Given the description of an element on the screen output the (x, y) to click on. 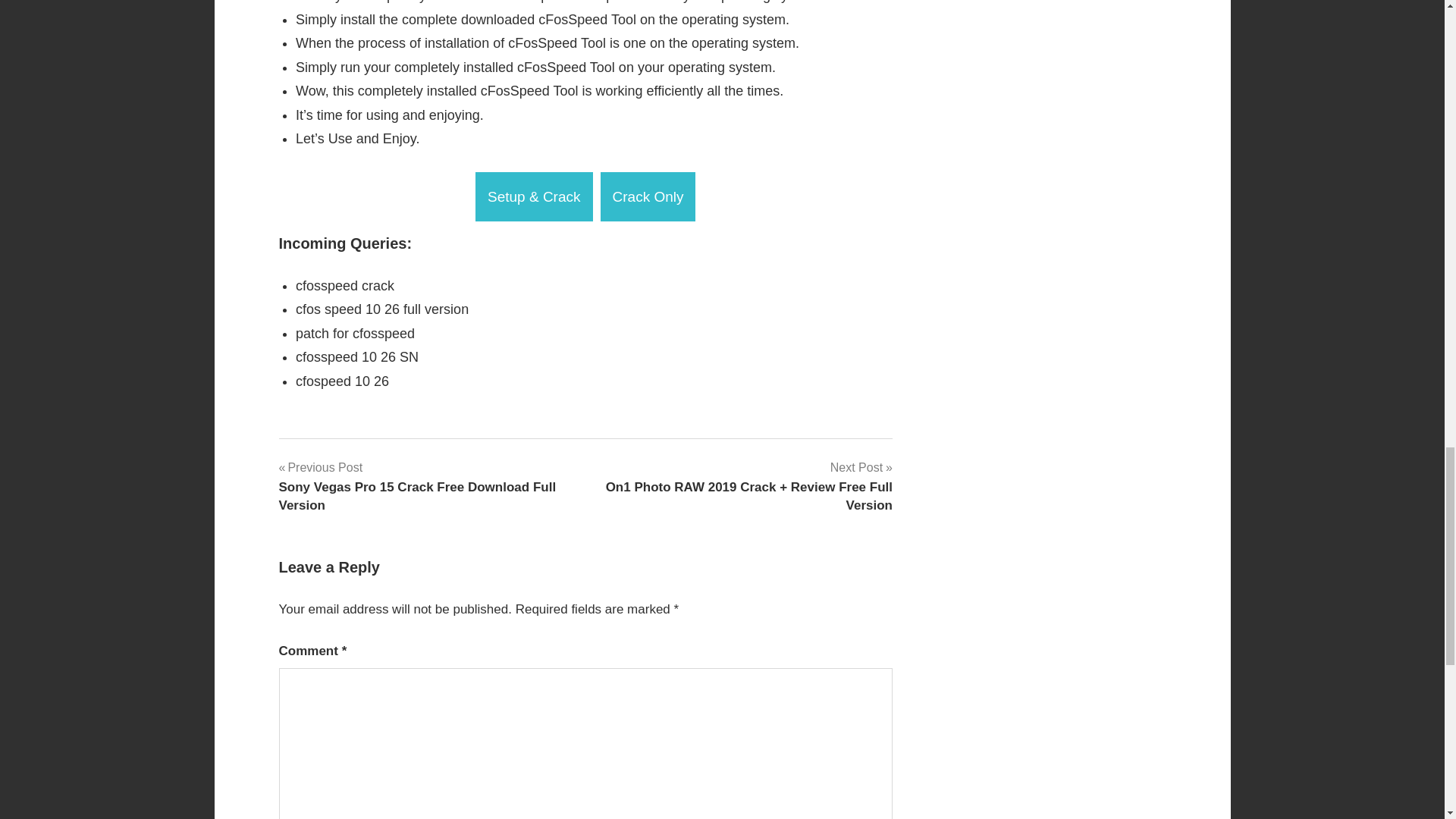
Crack Only (647, 196)
